Given the description of an element on the screen output the (x, y) to click on. 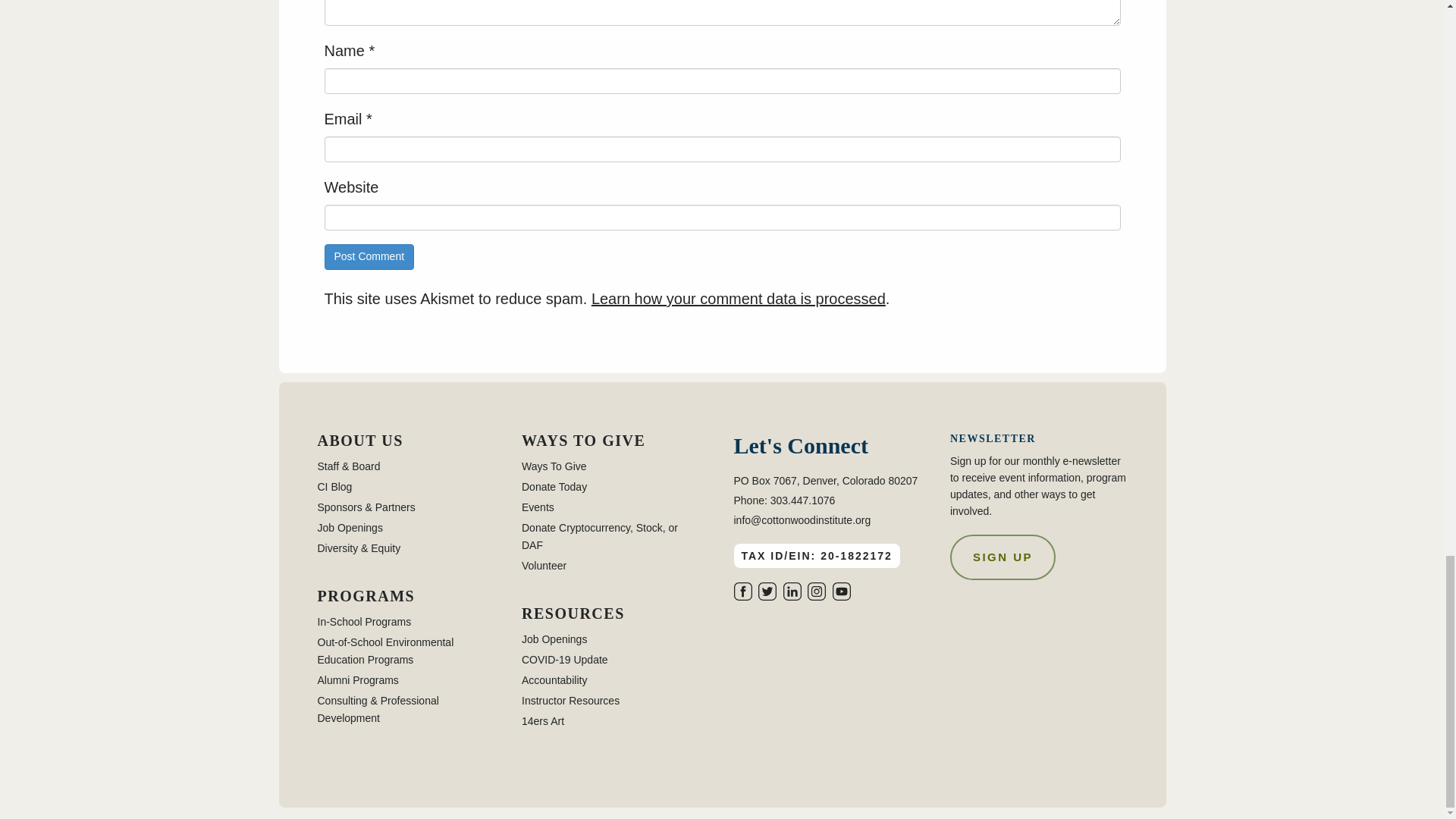
Post Comment (369, 257)
